Given the description of an element on the screen output the (x, y) to click on. 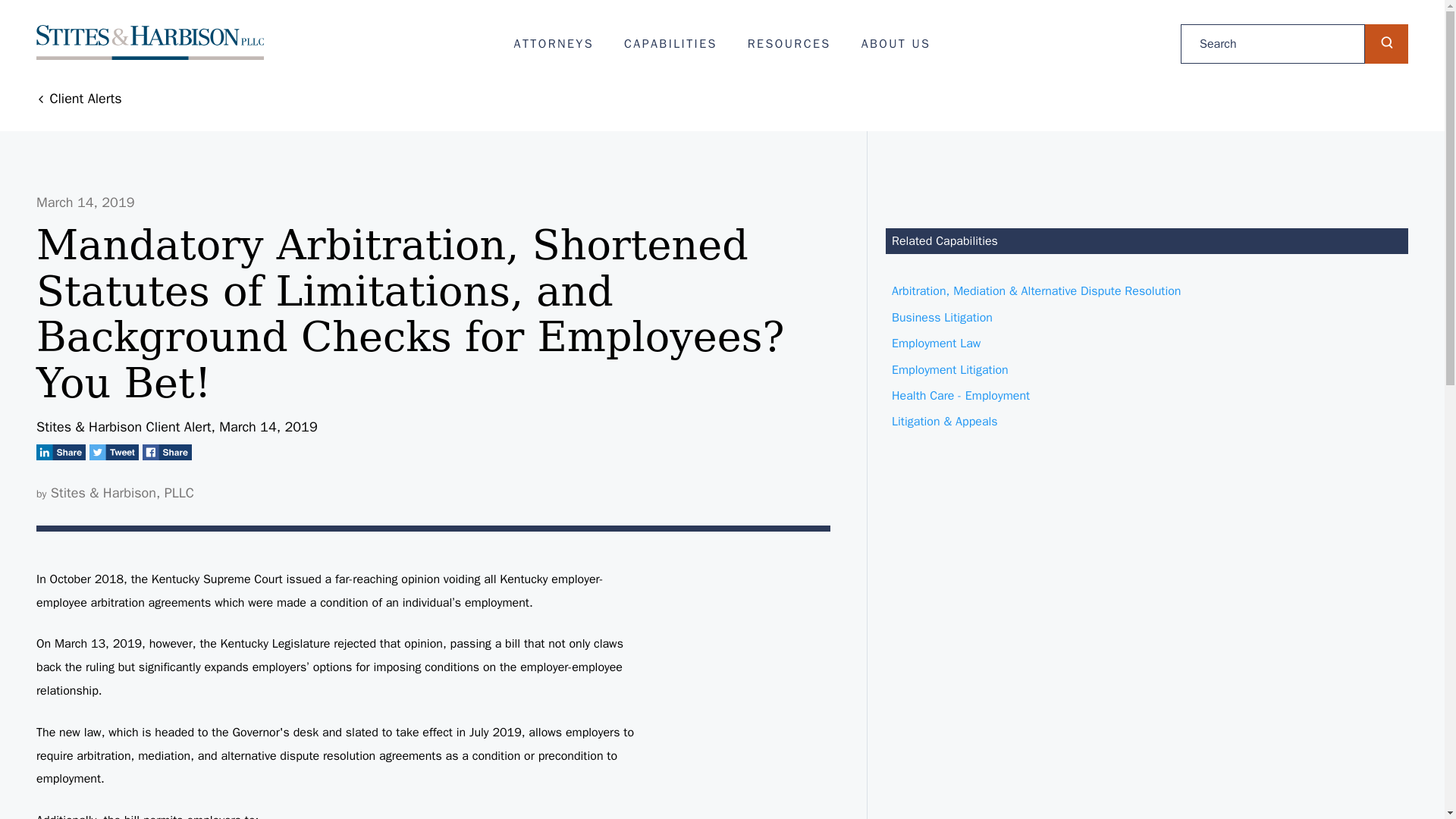
ATTORNEYS (553, 43)
Client Alerts (79, 98)
Employment Law (1146, 343)
CAPABILITIES (670, 43)
ABOUT US (895, 43)
Employment Litigation (1146, 370)
Business Litigation (1146, 317)
RESOURCES (789, 43)
Health Care - Employment (1146, 395)
